Given the description of an element on the screen output the (x, y) to click on. 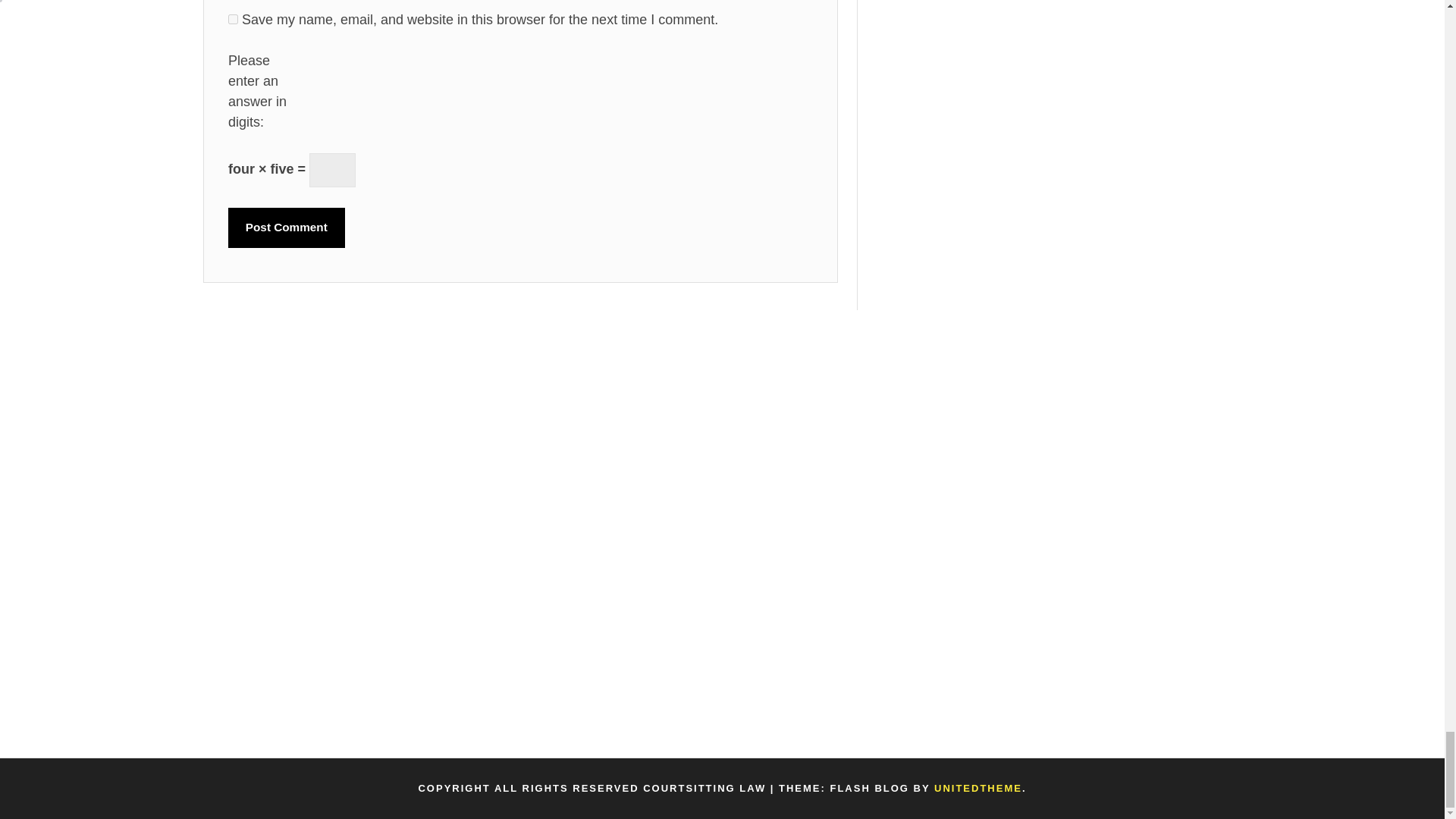
Post Comment (286, 228)
yes (233, 19)
